Given the description of an element on the screen output the (x, y) to click on. 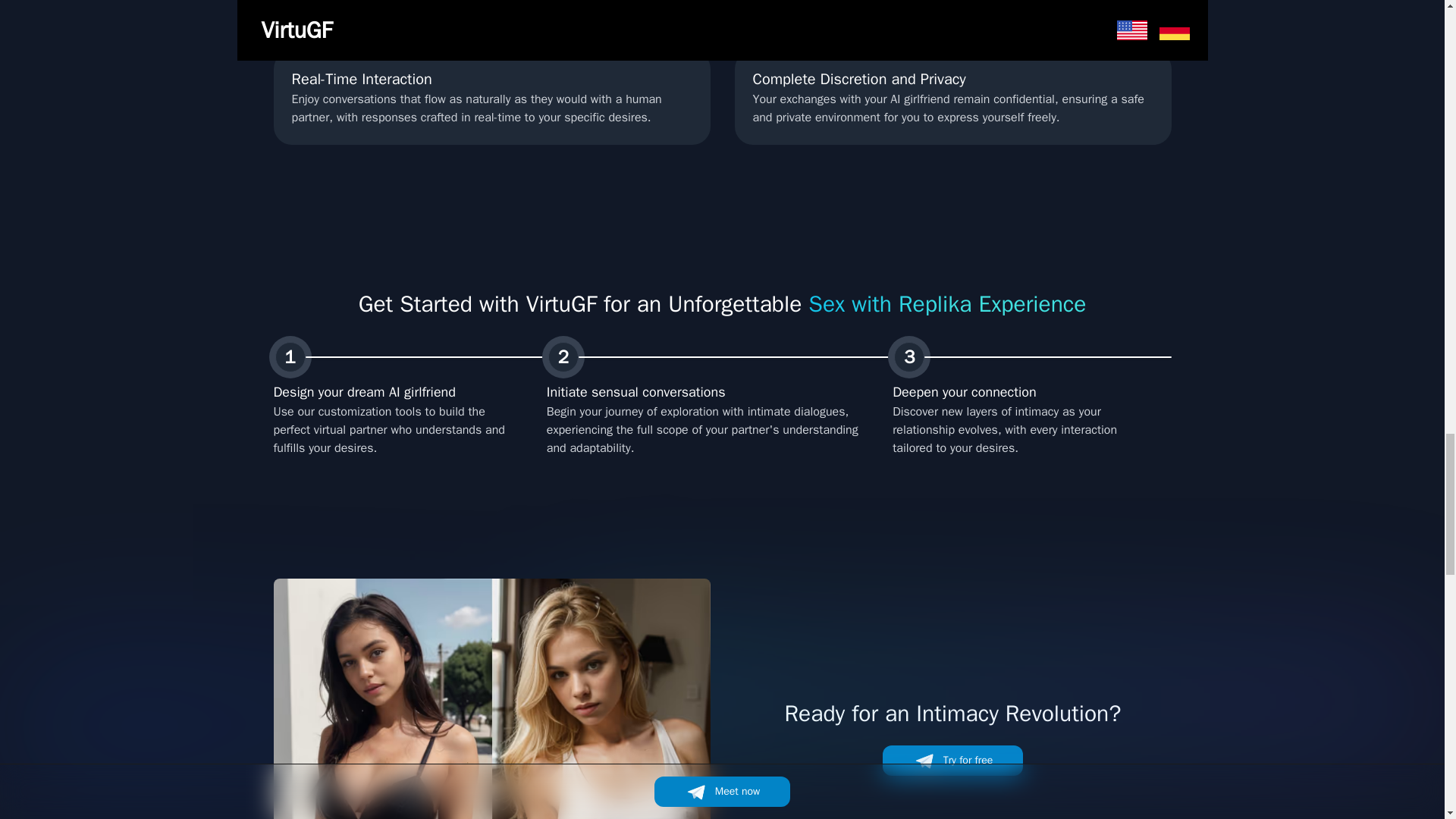
AI girlfriend (491, 698)
